Given the description of an element on the screen output the (x, y) to click on. 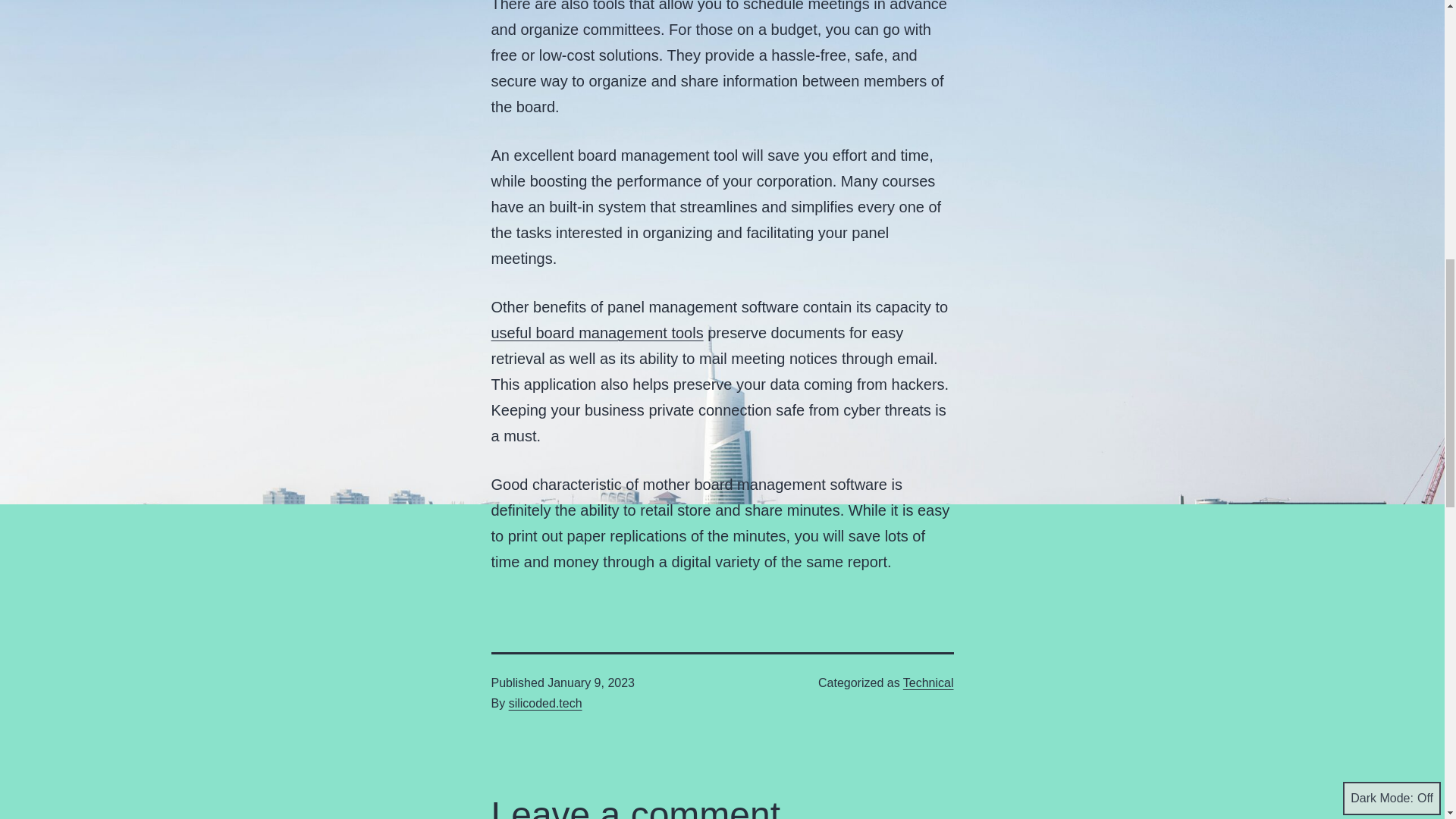
Technical (927, 682)
useful board management tools (597, 332)
silicoded.tech (545, 703)
